Given the description of an element on the screen output the (x, y) to click on. 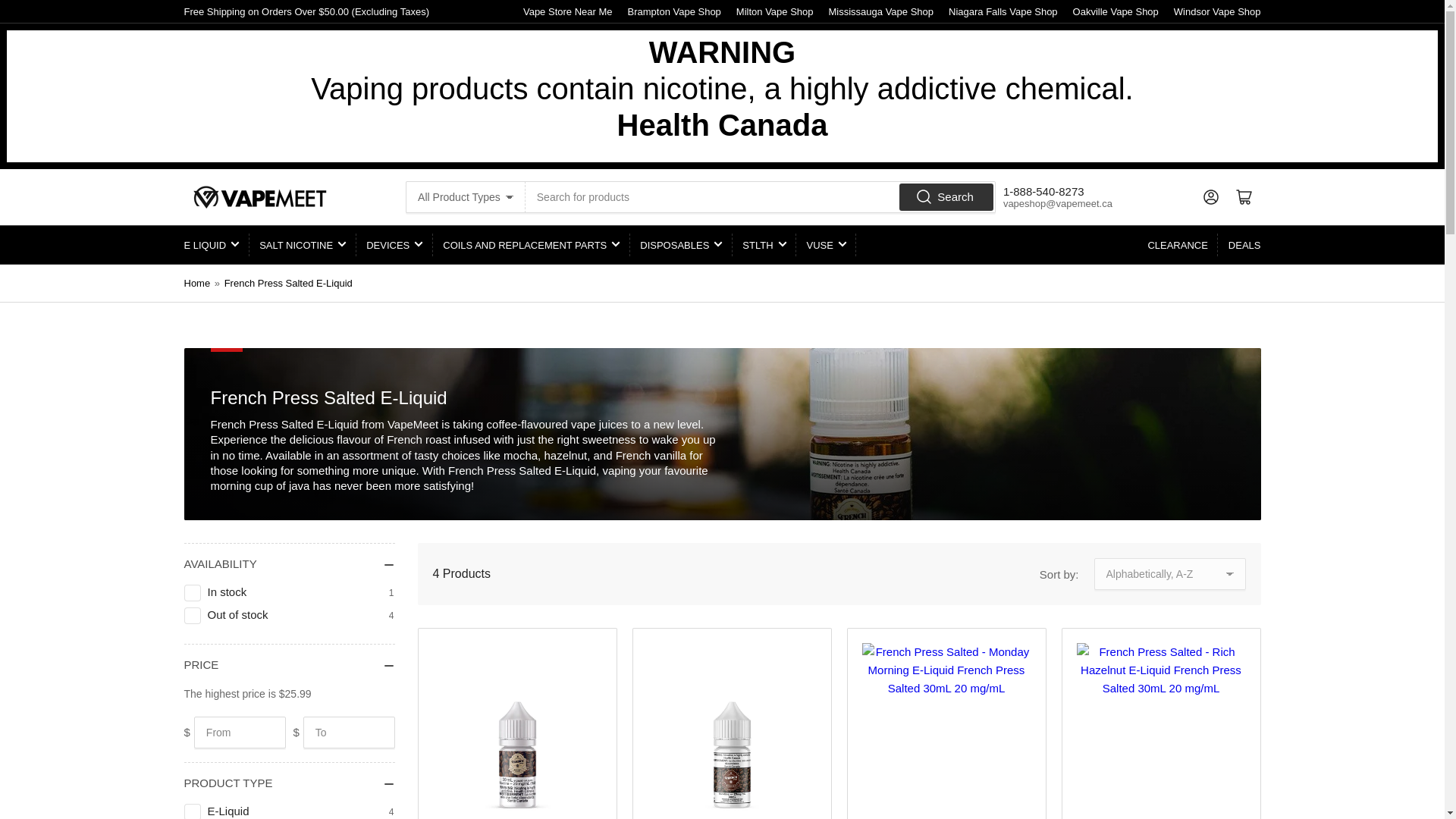
1 (192, 592)
Mississauga Vape Shop (881, 11)
Log in (1210, 196)
Oakville Vape Shop (1115, 11)
0 (192, 615)
Niagara Falls Vape Shop (1003, 11)
Open mini cart (1243, 196)
Milton Vape Shop (774, 11)
Brampton Vape Shop (673, 11)
Search (945, 196)
